Given the description of an element on the screen output the (x, y) to click on. 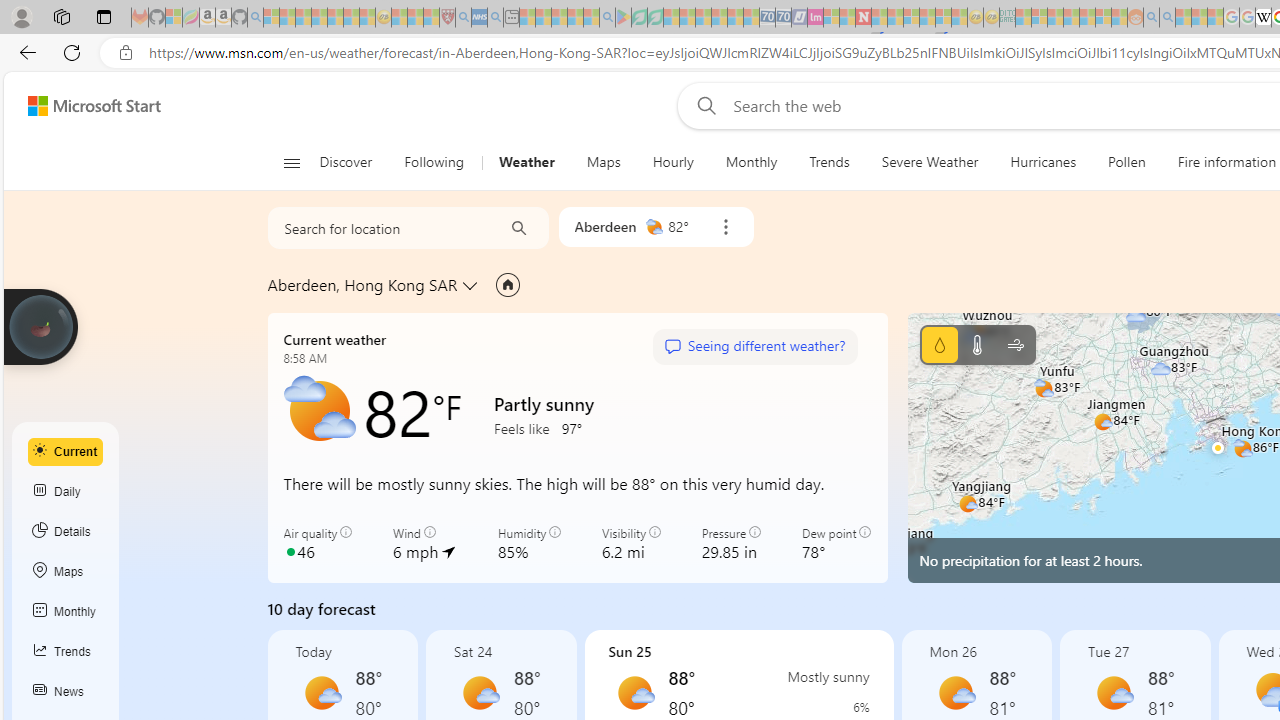
utah sues federal government - Search - Sleeping (495, 17)
Precipitation (939, 344)
